Given the description of an element on the screen output the (x, y) to click on. 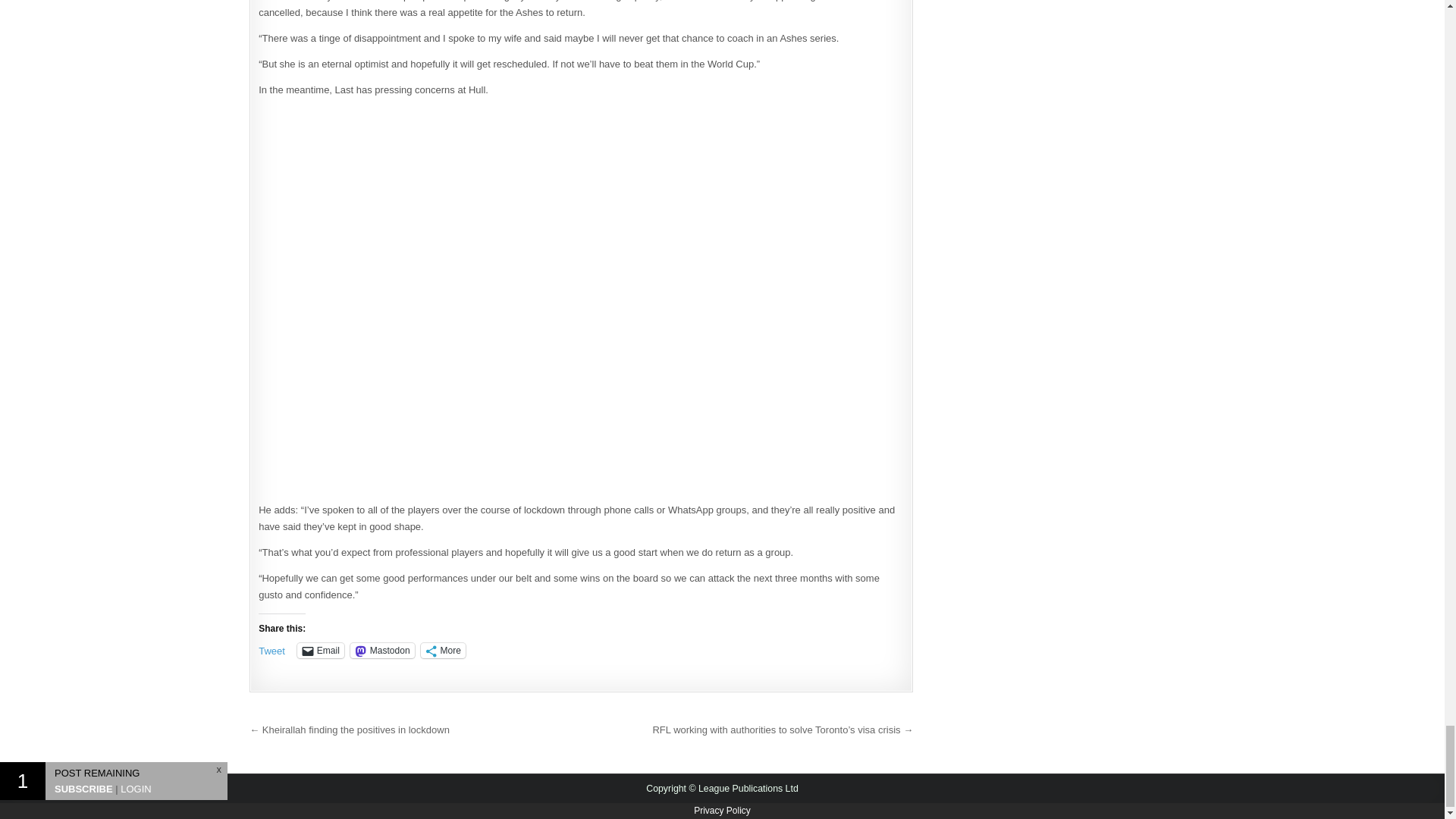
Click to share on Mastodon (382, 650)
Mastodon (382, 650)
Click to email a link to a friend (320, 650)
Email (320, 650)
More (442, 650)
Tweet (272, 649)
